Given the description of an element on the screen output the (x, y) to click on. 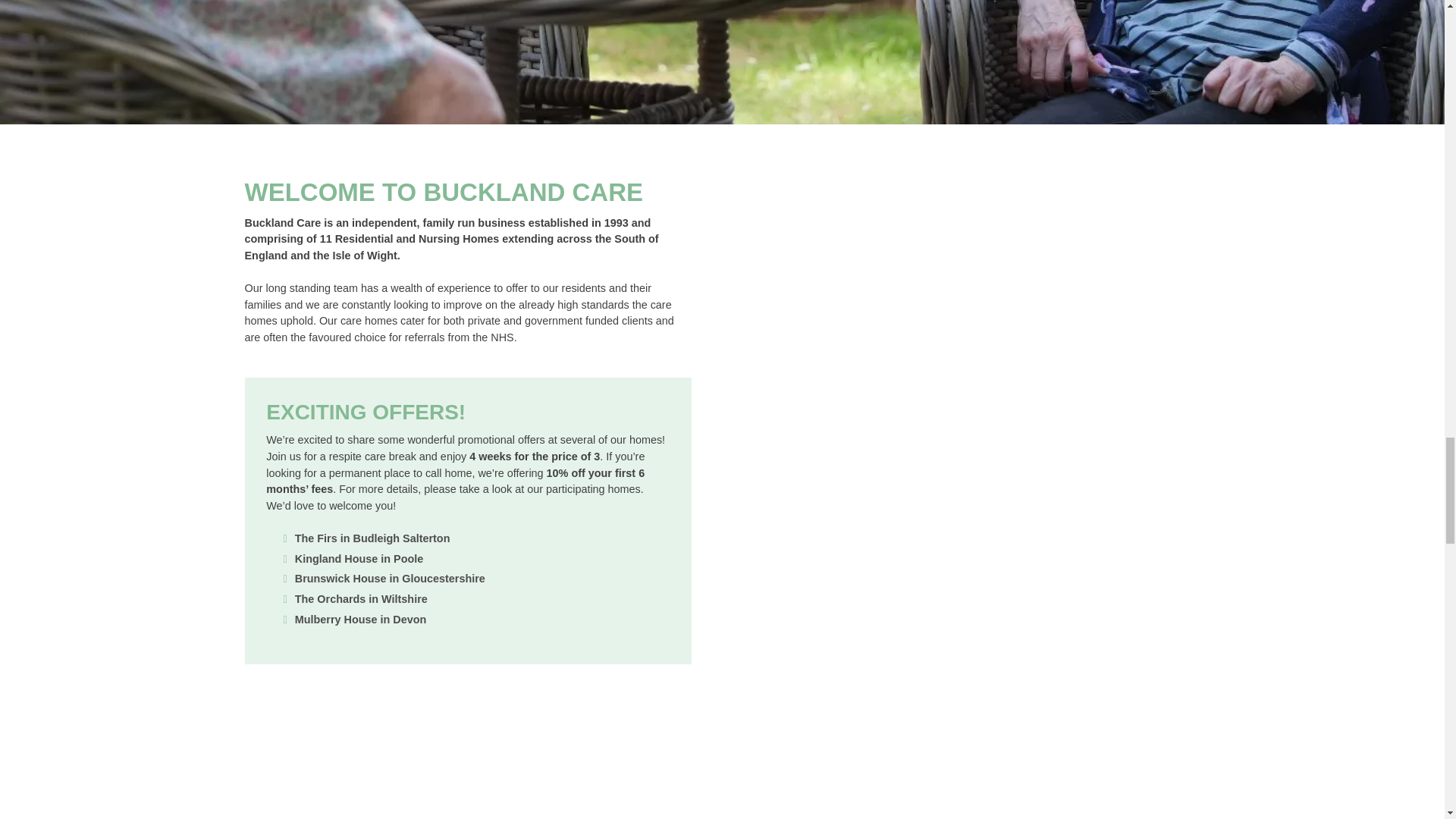
Mulberry House in Devon (360, 619)
The Orchards in Wiltshire (361, 598)
The Firs in Budleigh Salterton (372, 538)
Kingland House in Poole (359, 558)
Brunswick House in Gloucestershire (389, 578)
